Given the description of an element on the screen output the (x, y) to click on. 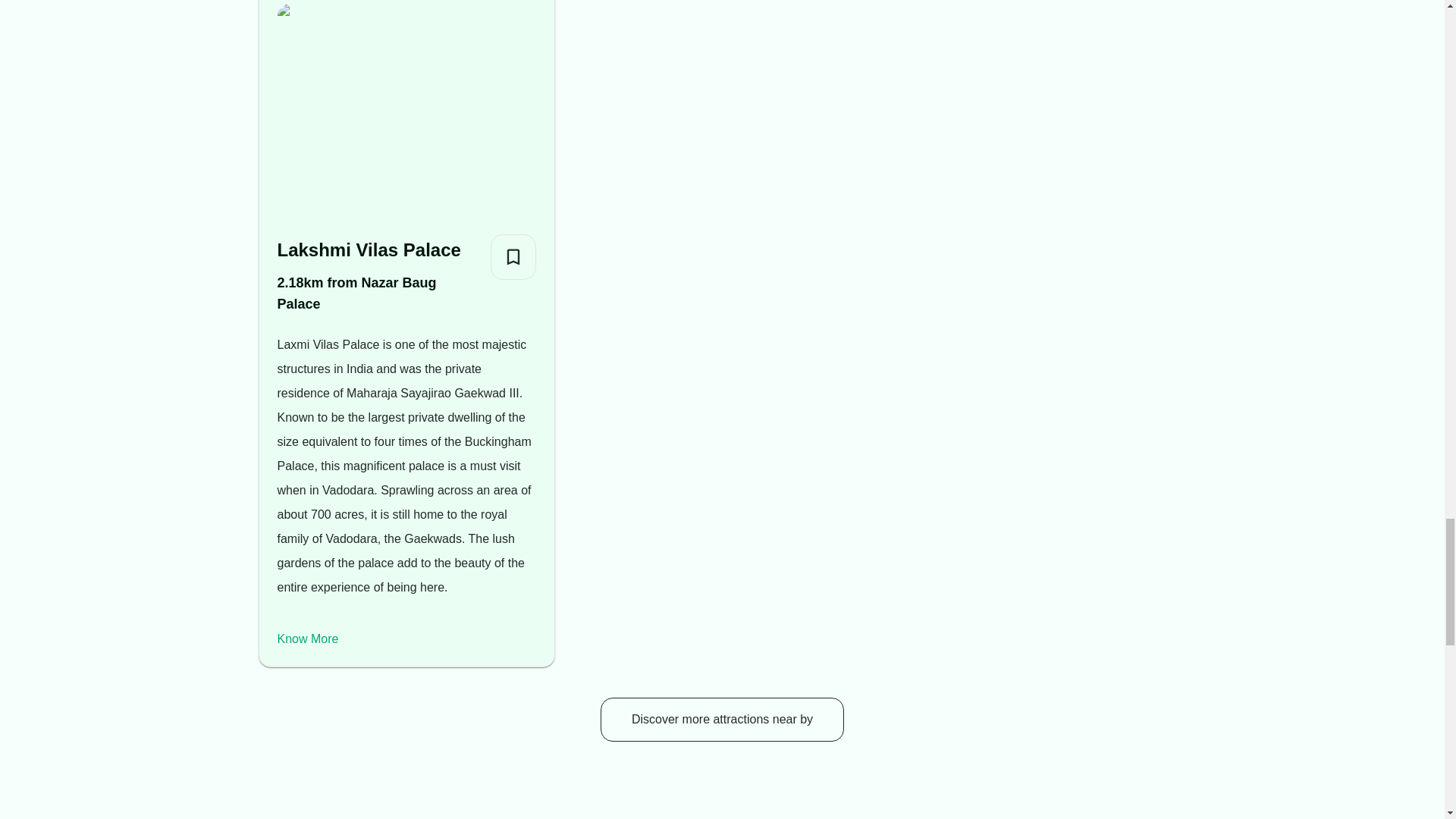
Add to Bucket List (512, 257)
